Given the description of an element on the screen output the (x, y) to click on. 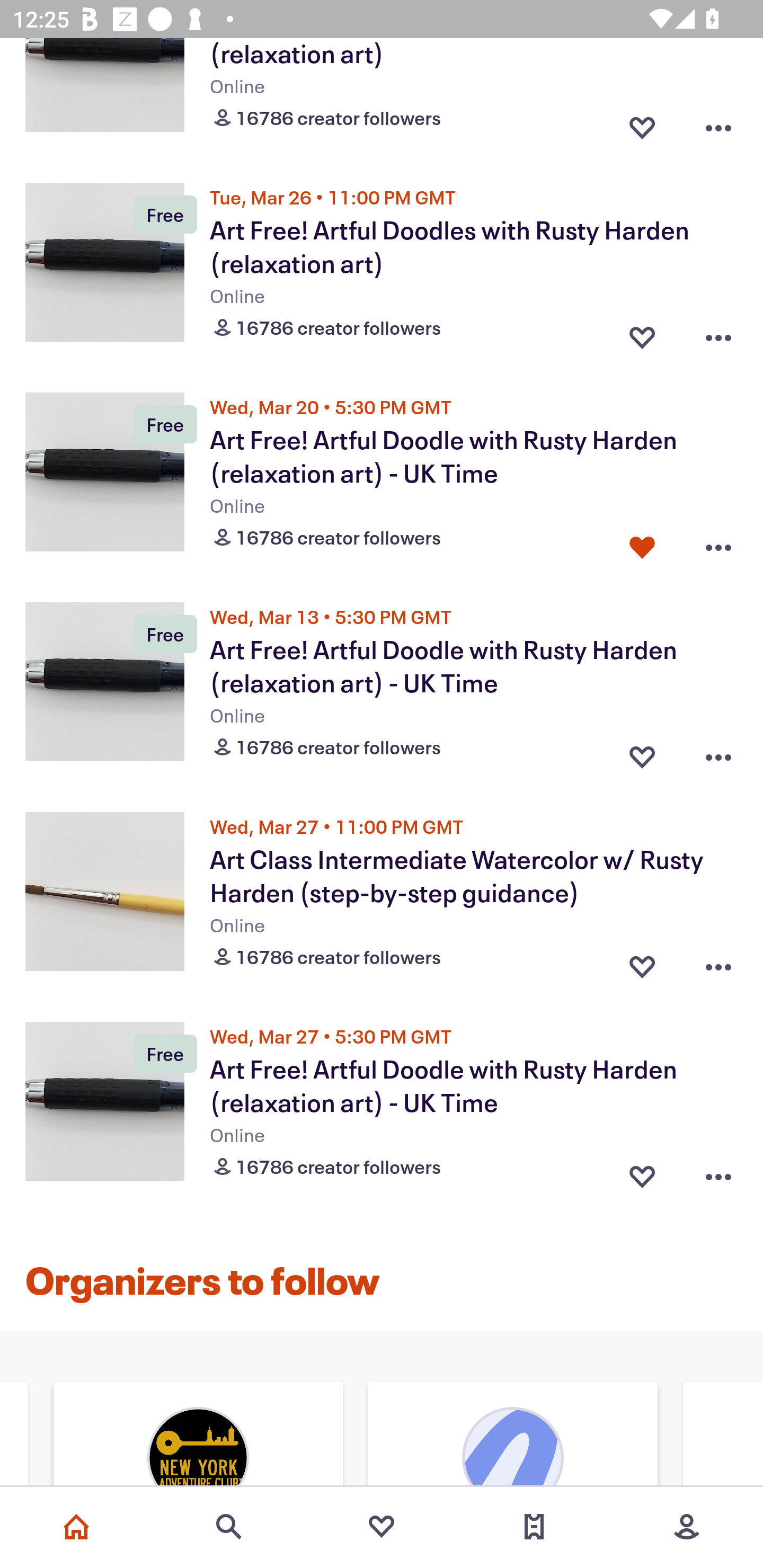
Favorite button (642, 122)
Overflow menu button (718, 122)
Favorite button (642, 332)
Overflow menu button (718, 332)
Favorite button (642, 543)
Overflow menu button (718, 543)
Favorite button (642, 753)
Overflow menu button (718, 753)
Favorite button (642, 962)
Overflow menu button (718, 962)
Favorite button (642, 1171)
Overflow menu button (718, 1171)
Organizer's image (197, 1436)
Organizer's image (512, 1436)
Home (76, 1526)
Search events (228, 1526)
Favorites (381, 1526)
Tickets (533, 1526)
More (686, 1526)
